Given the description of an element on the screen output the (x, y) to click on. 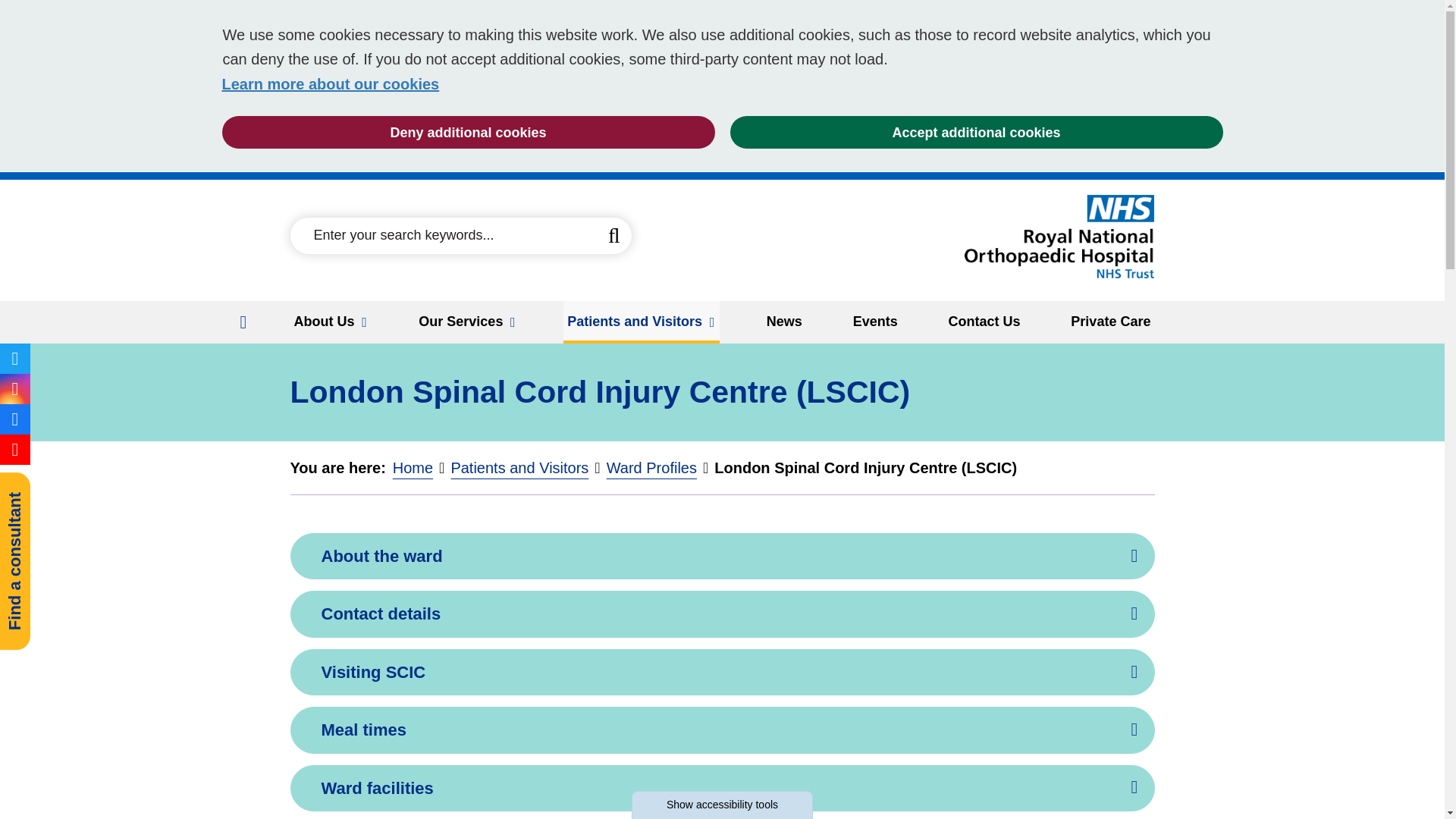
Accept additional cookies (976, 132)
Search this website (613, 235)
Twitter (15, 358)
Youtube (14, 449)
Instagram (15, 388)
Facebook (15, 419)
Instagram (14, 389)
Show accessibility tools (721, 805)
Twitter (14, 358)
Consultants (88, 487)
Deny additional cookies (467, 132)
Facebook (14, 419)
Youtube (15, 449)
About Us (330, 322)
Go to the homepage (1058, 236)
